Given the description of an element on the screen output the (x, y) to click on. 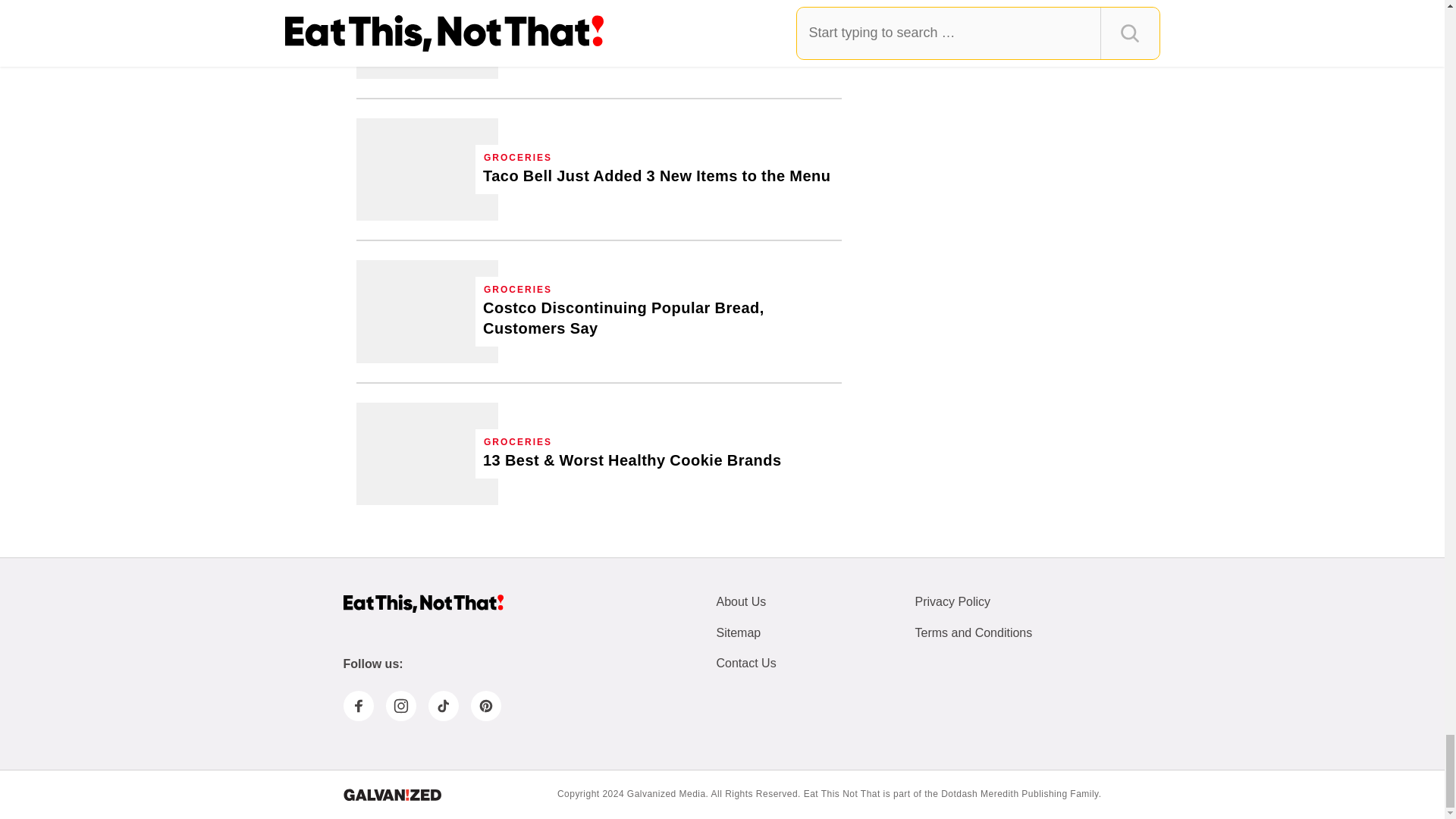
Costco Is Discontinuing a Popular Bread, Customers Say (426, 311)
Costco Is Discontinuing a Popular Bread, Customers Say (658, 318)
Taco Bell Just Added 3 Exciting New Items to the Menu (656, 176)
Taco Bell Just Added 3 Exciting New Items to the Menu (426, 168)
